Given the description of an element on the screen output the (x, y) to click on. 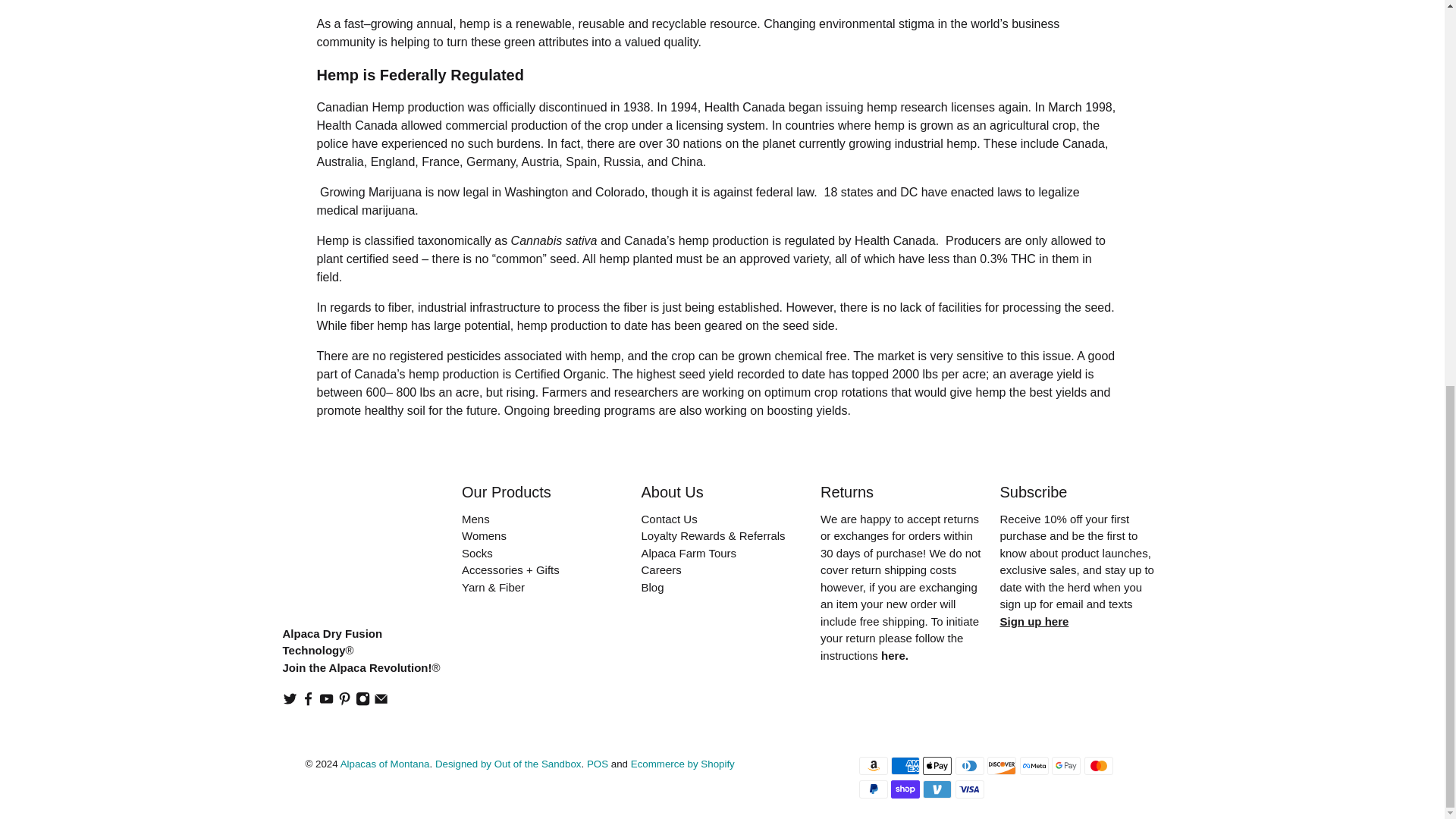
Shop Pay (905, 789)
Alpacas of Montana on Facebook (308, 701)
Email Alpacas of Montana (381, 701)
Apple Pay (937, 765)
Amazon (872, 765)
PayPal (872, 789)
Alpacas of Montana on Pinterest (344, 701)
Diners Club (969, 765)
Alpacas of Montana on Twitter (289, 701)
Discover (1001, 765)
Flex Shopify Theme by Out of the Sandbox (507, 763)
Meta Pay (1034, 765)
Mastercard (1098, 765)
American Express (905, 765)
Alpacas of Montana (347, 552)
